Given the description of an element on the screen output the (x, y) to click on. 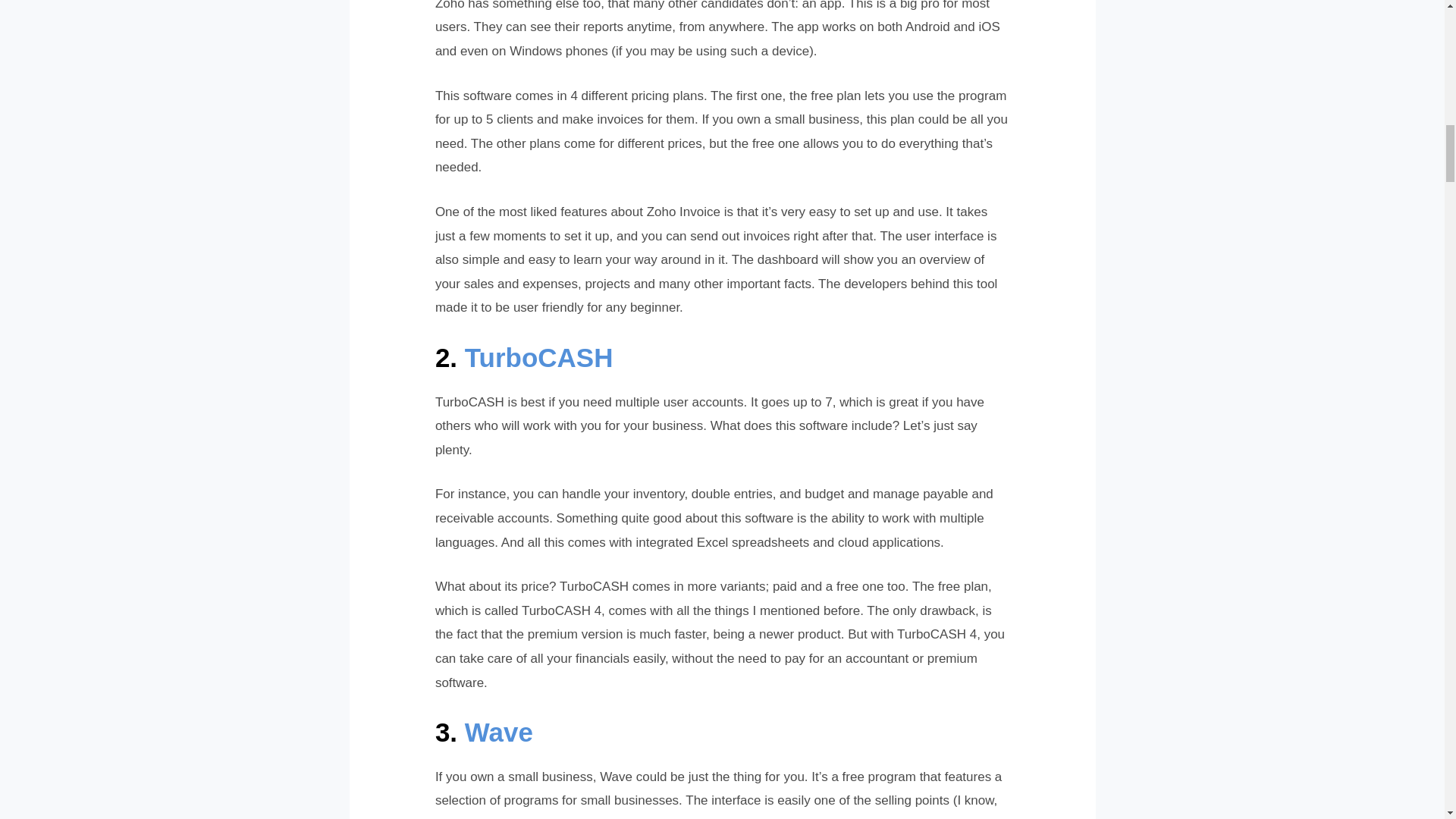
Wave (498, 731)
TurboCASH (538, 357)
